Given the description of an element on the screen output the (x, y) to click on. 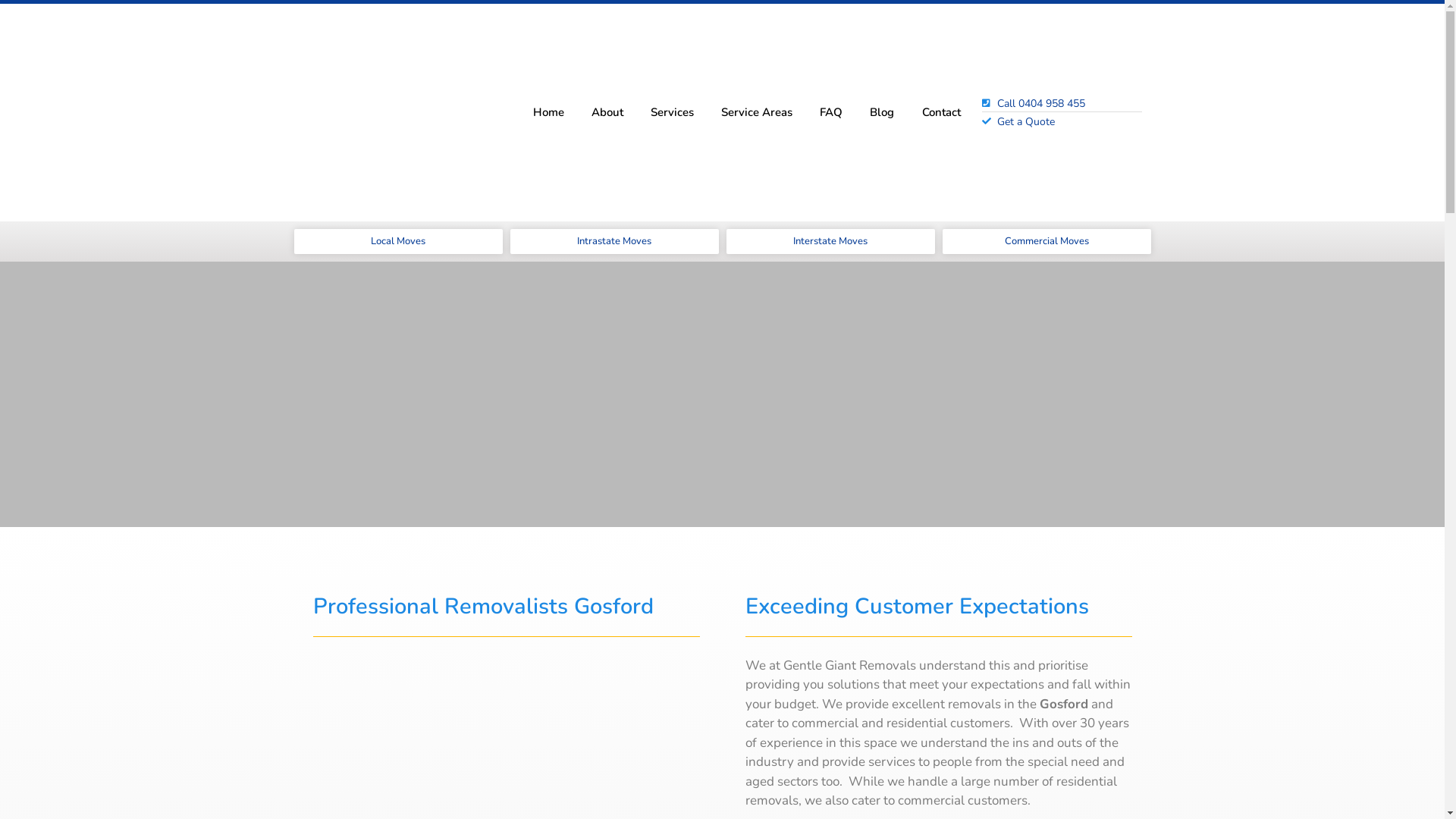
Services Element type: text (672, 112)
FAQ Element type: text (831, 112)
Commercial Moves Element type: text (1045, 241)
About Element type: text (607, 112)
Intrastate Moves Element type: text (613, 241)
Contact Element type: text (940, 112)
Service Areas Element type: text (756, 112)
Get a Quote Element type: text (1062, 121)
Local Moves Element type: text (398, 241)
Blog Element type: text (881, 112)
Call 0404 958 455 Element type: text (1062, 103)
Interstate Moves Element type: text (830, 241)
Home Element type: text (547, 112)
